Given the description of an element on the screen output the (x, y) to click on. 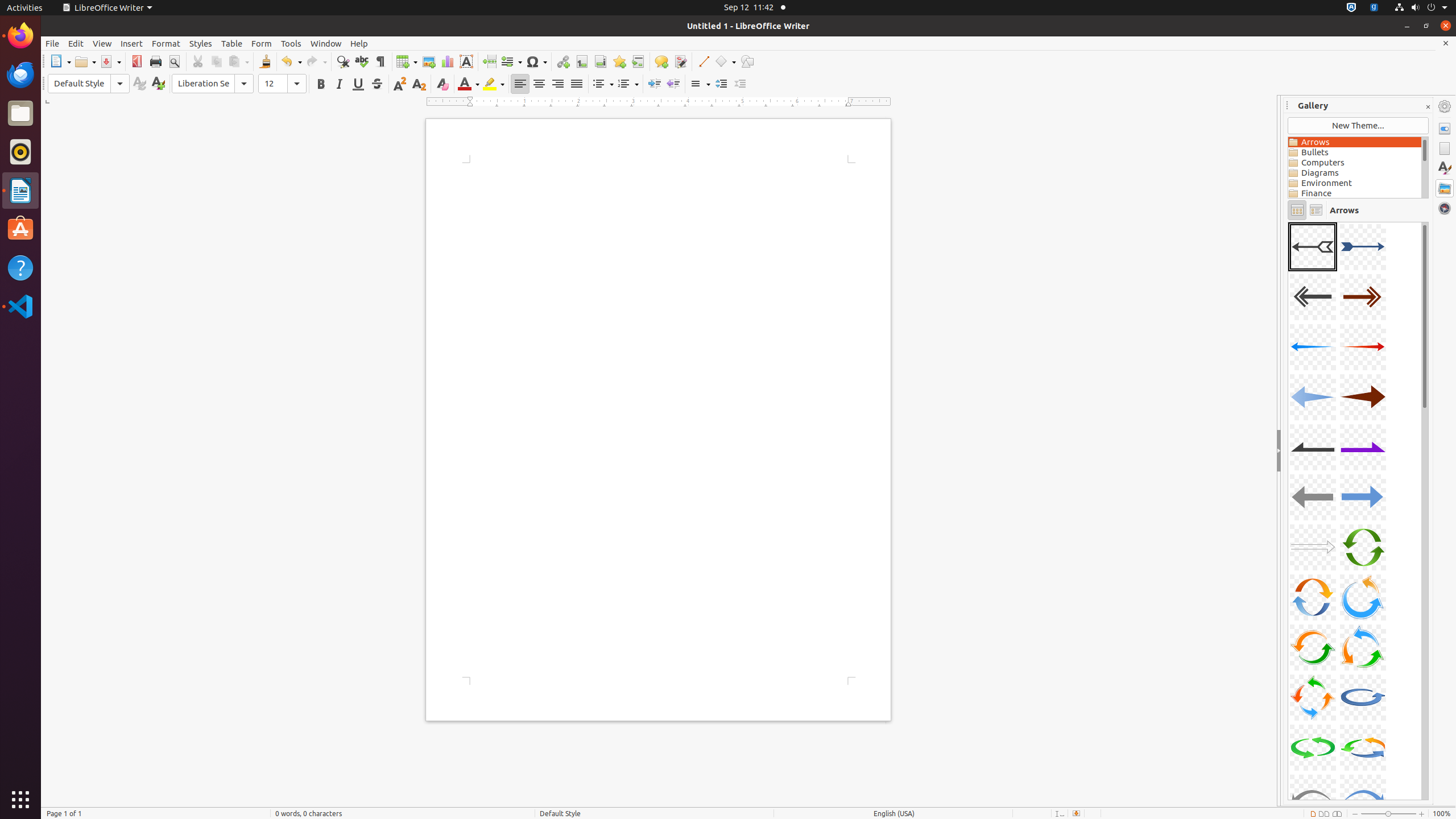
Rhythmbox Element type: push-button (20, 151)
Form Element type: menu (261, 43)
A06-Arrow-Red-Right Element type: list-item (1362, 346)
Left Element type: toggle-button (519, 83)
A03-Arrow-Gray-Left Element type: list-item (1312, 296)
